Given the description of an element on the screen output the (x, y) to click on. 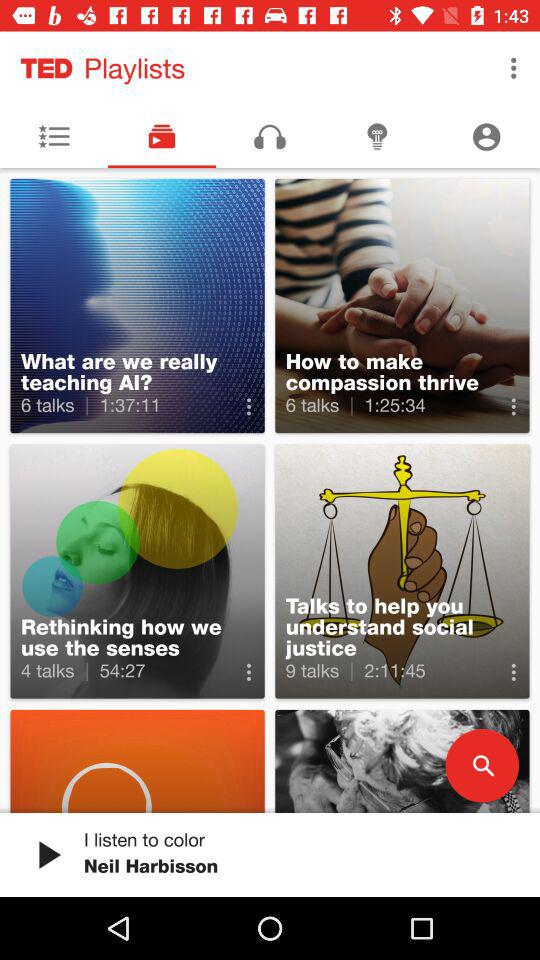
select the item to the right of the playlists (513, 67)
